Given the description of an element on the screen output the (x, y) to click on. 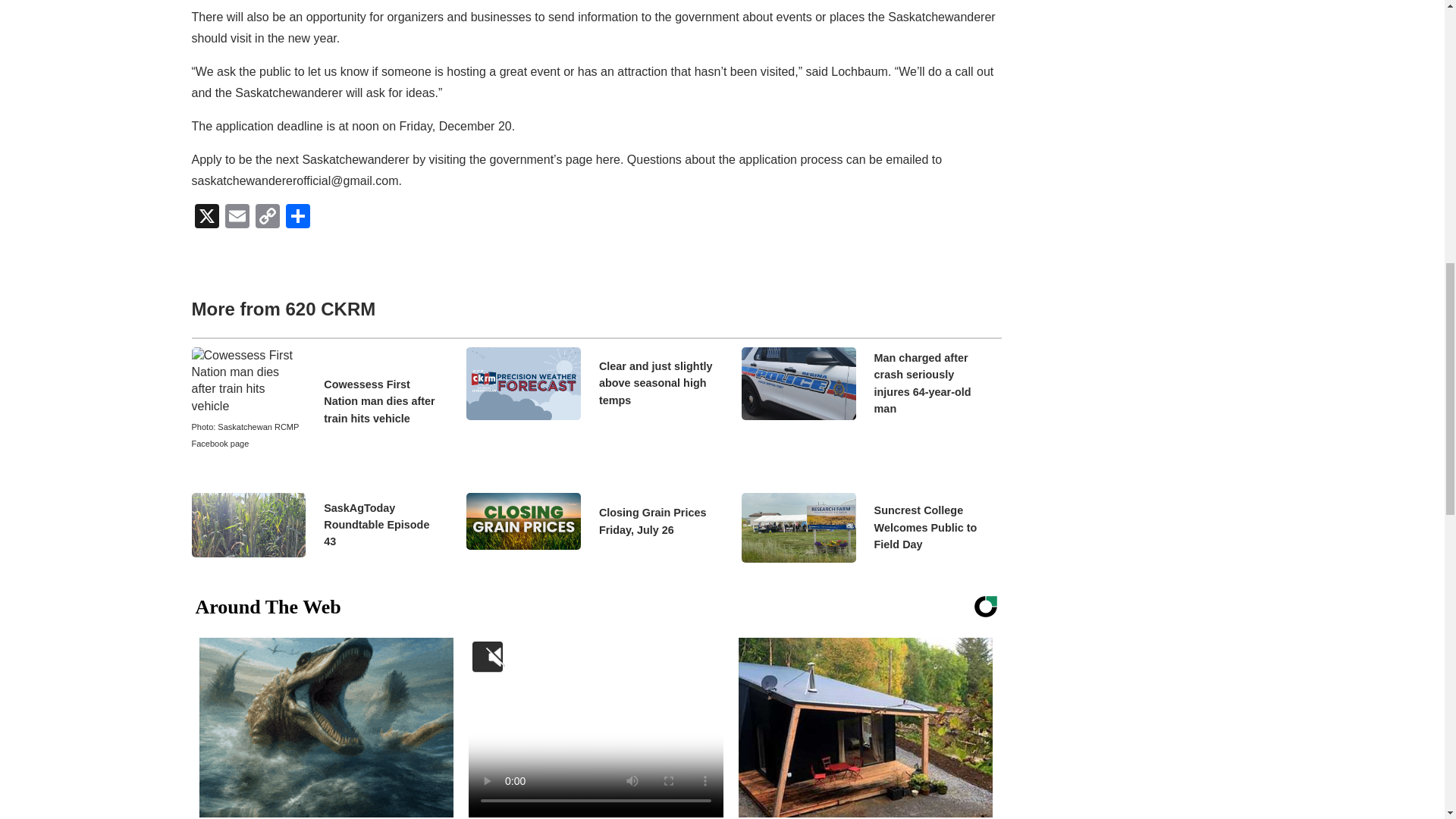
Email (236, 217)
Copy Link (266, 217)
X (205, 217)
3rd party ad content (1135, 83)
